Given the description of an element on the screen output the (x, y) to click on. 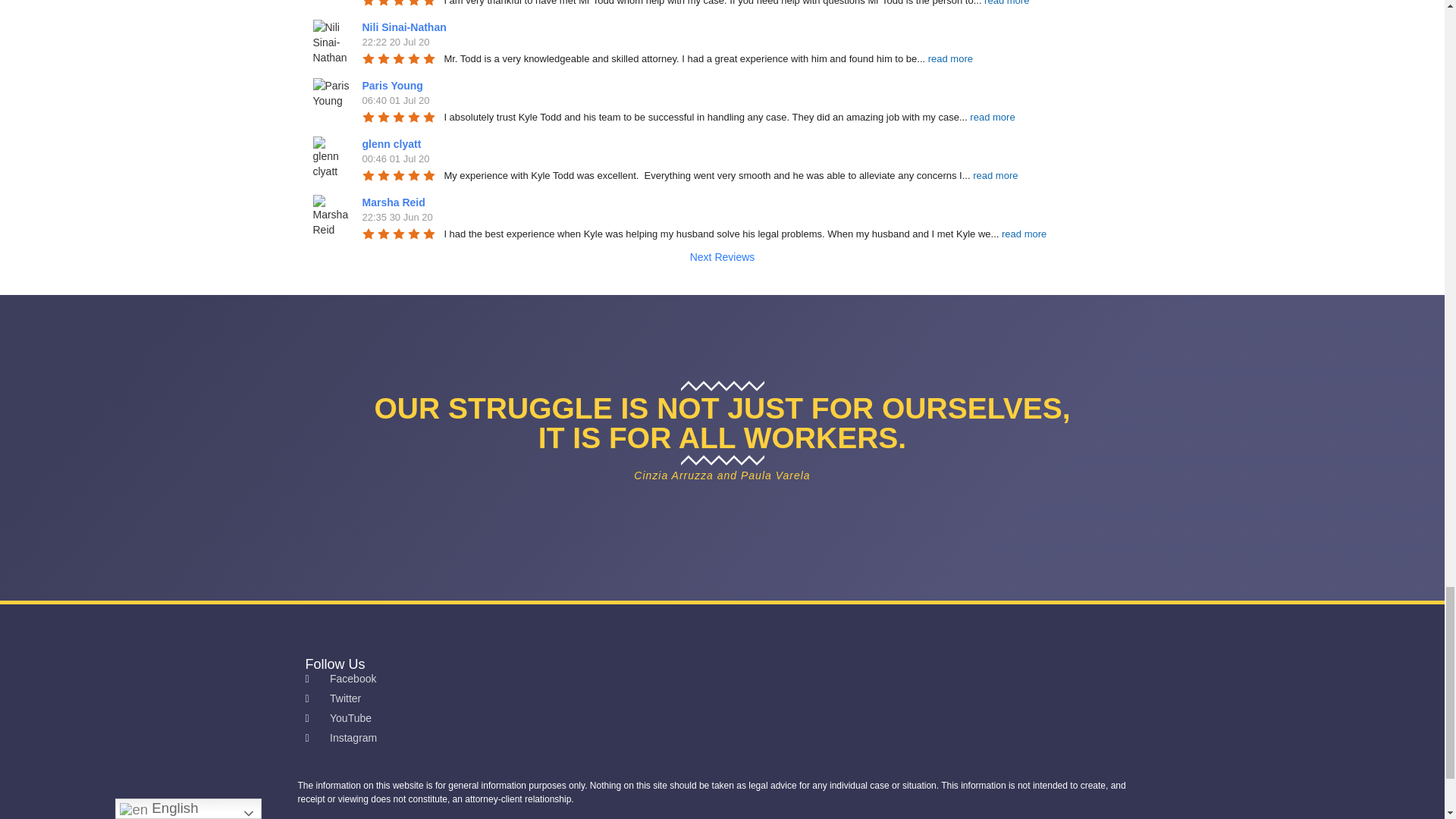
Marsha Reid (395, 202)
Paris Young (331, 96)
Nili Sinai-Nathan (331, 38)
Instagram (721, 738)
Marsha Reid (331, 213)
Twitter (721, 698)
YouTube (721, 718)
Nili Sinai-Nathan (406, 27)
glenn clyatt (331, 155)
Next Reviews (722, 256)
